Given the description of an element on the screen output the (x, y) to click on. 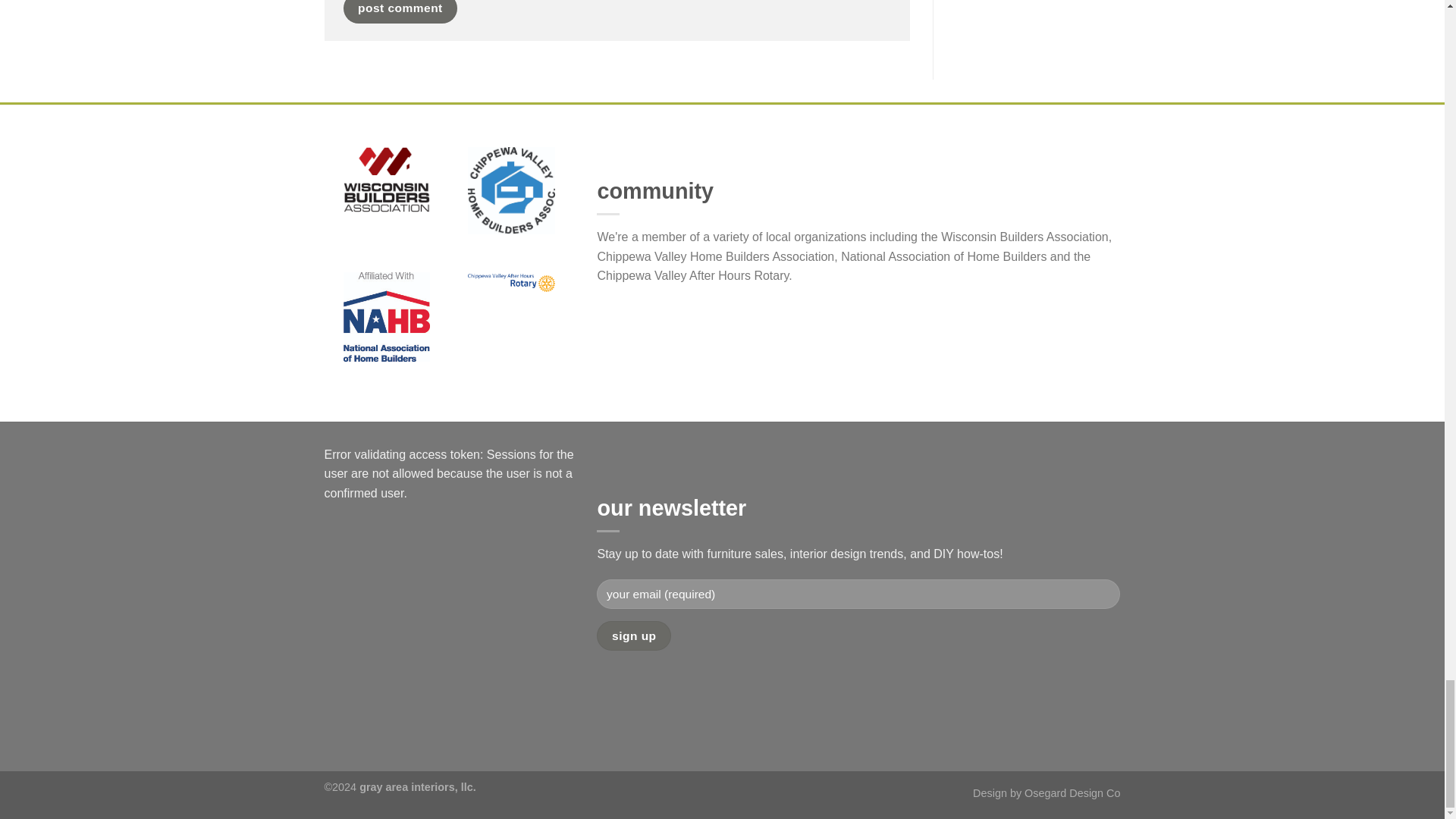
Sign Up (633, 635)
Osegard Design Co (1072, 793)
Post Comment (399, 11)
Sign Up (633, 635)
Post Comment (399, 11)
